Given the description of an element on the screen output the (x, y) to click on. 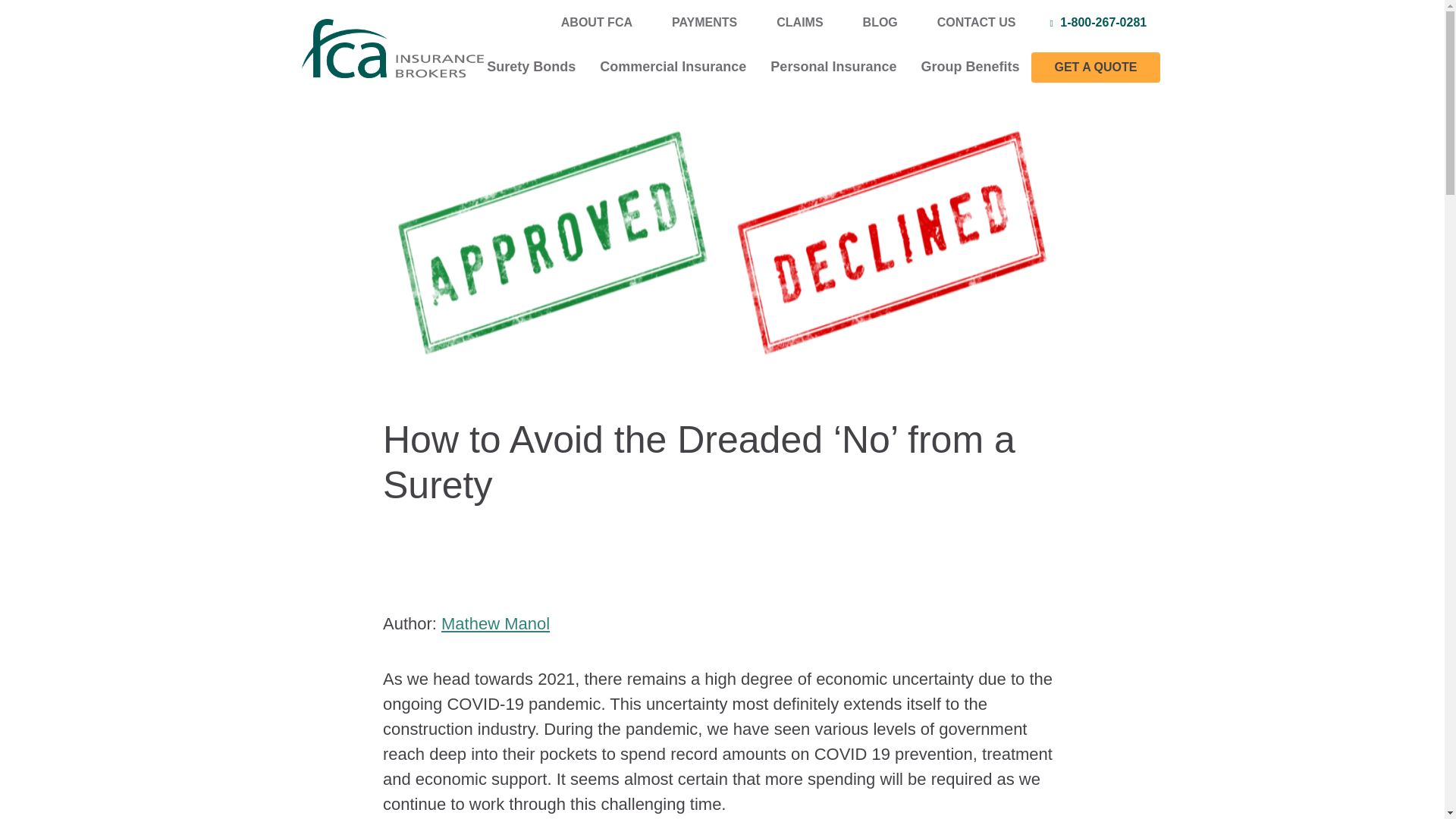
Surety Bonds (531, 66)
CLAIMS (799, 21)
ABOUT FCA (596, 21)
CONTACT US (970, 21)
Commercial Insurance (673, 66)
PAYMENTS (704, 21)
1-800-267-0281 (1099, 22)
BLOG (880, 21)
